Given the description of an element on the screen output the (x, y) to click on. 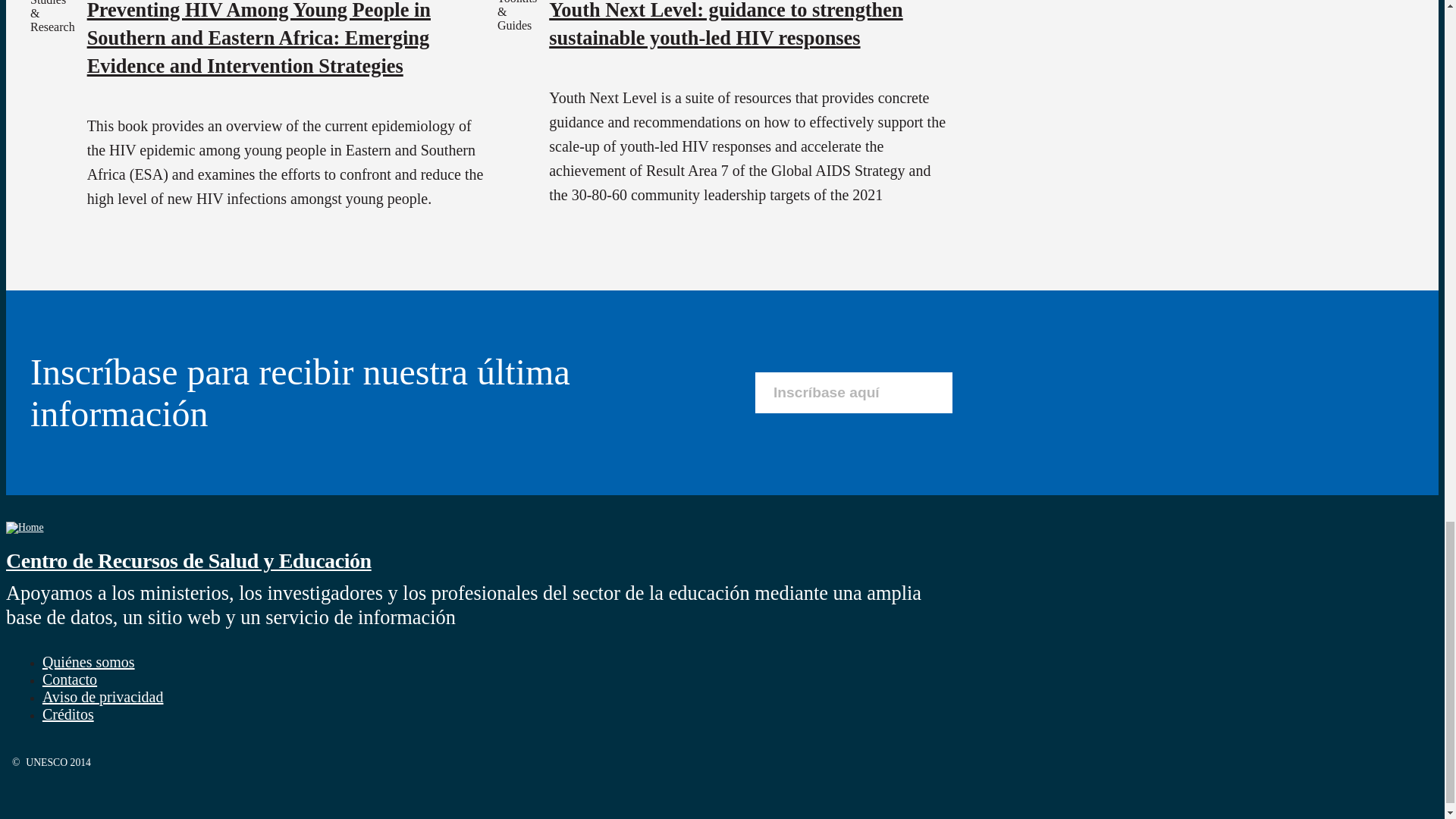
Home (24, 527)
Home (188, 560)
